Given the description of an element on the screen output the (x, y) to click on. 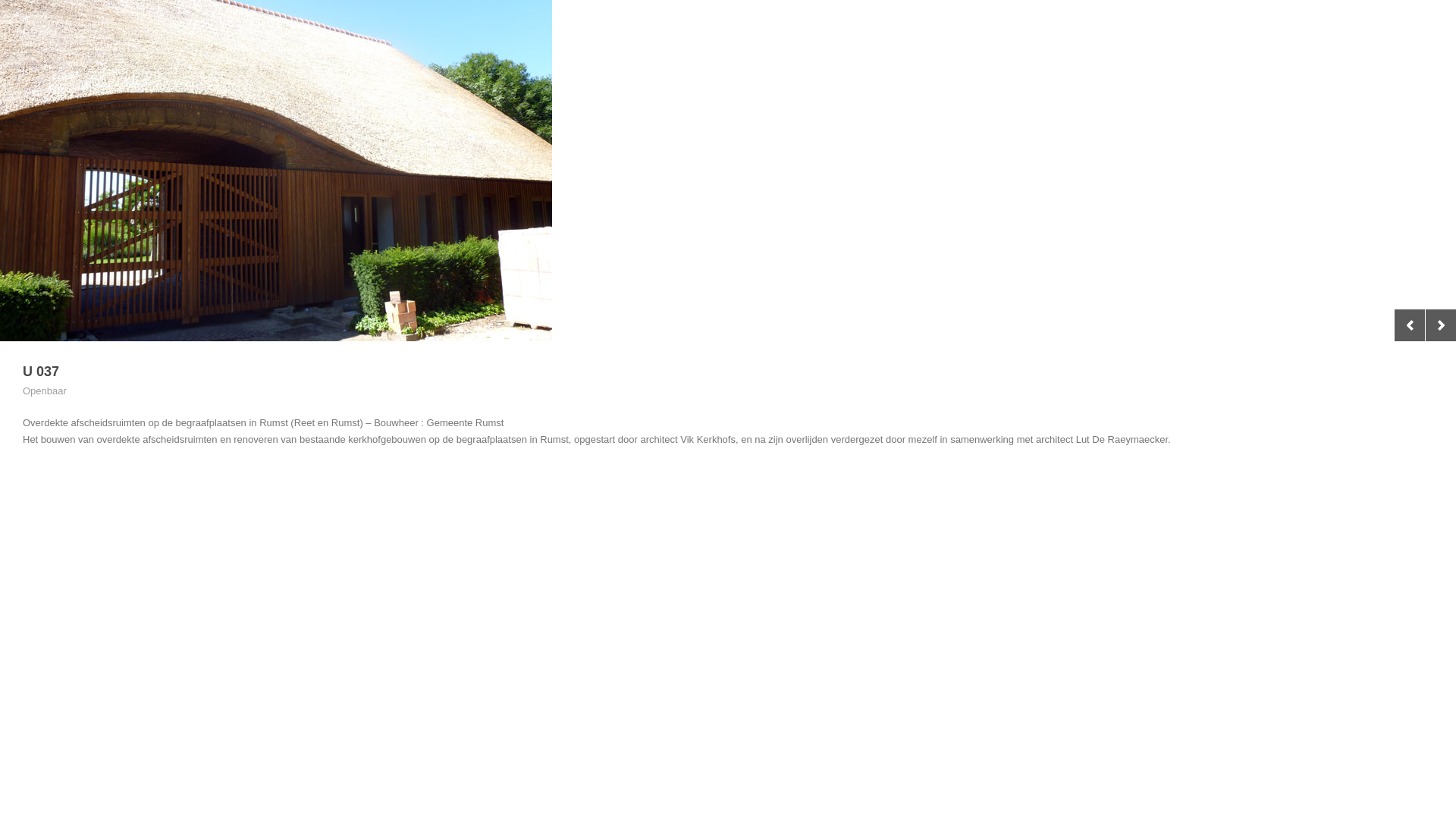
Previous Element type: text (1409, 325)
Openbaar Element type: text (44, 390)
